Given the description of an element on the screen output the (x, y) to click on. 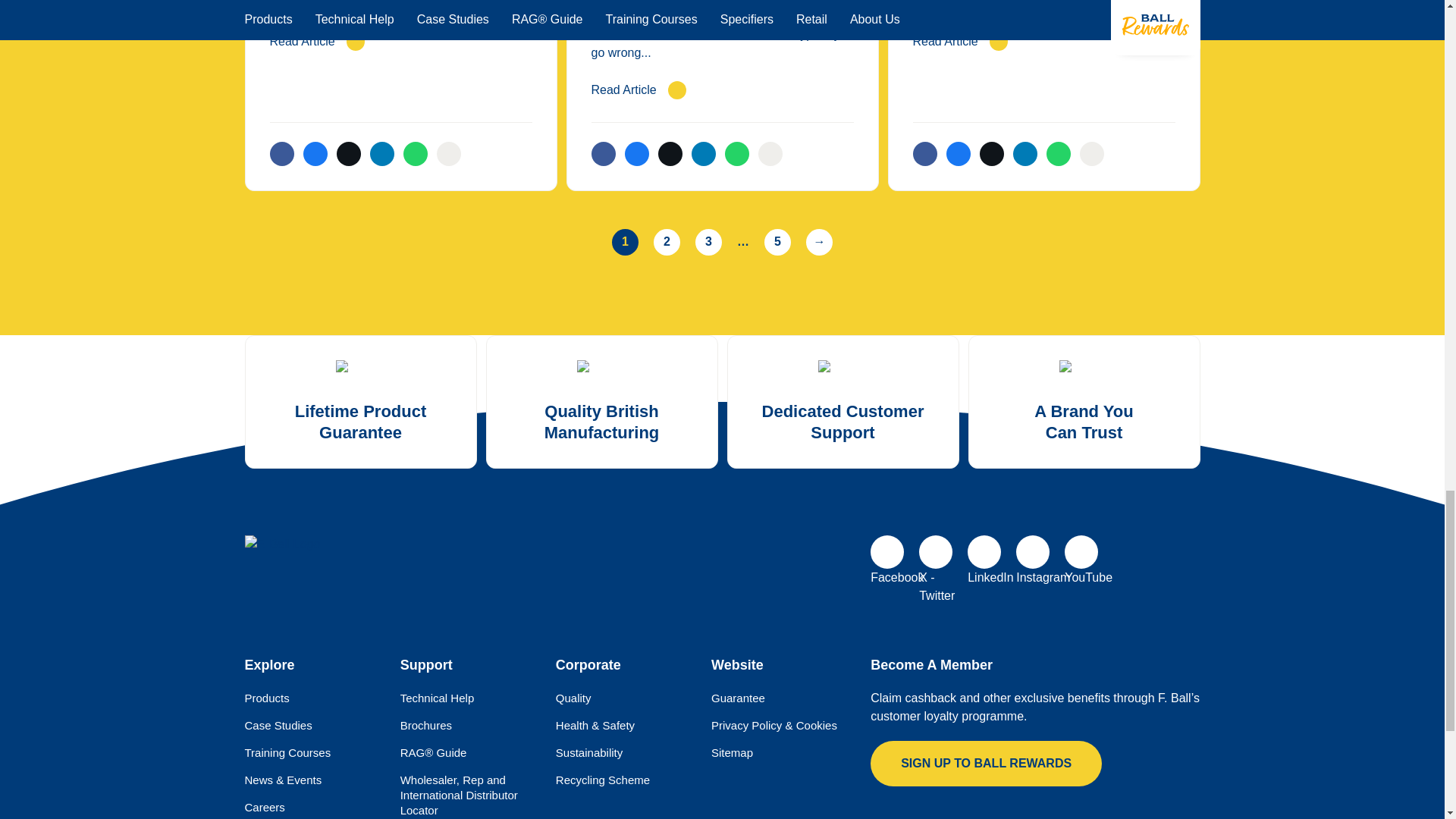
Read Dealing with lignite (400, 41)
LinkedIn (984, 551)
X - Twitter (935, 551)
Instagram (1032, 551)
Facebook (887, 551)
Read Handling the Heat (1043, 41)
YouTube (1080, 551)
